Given the description of an element on the screen output the (x, y) to click on. 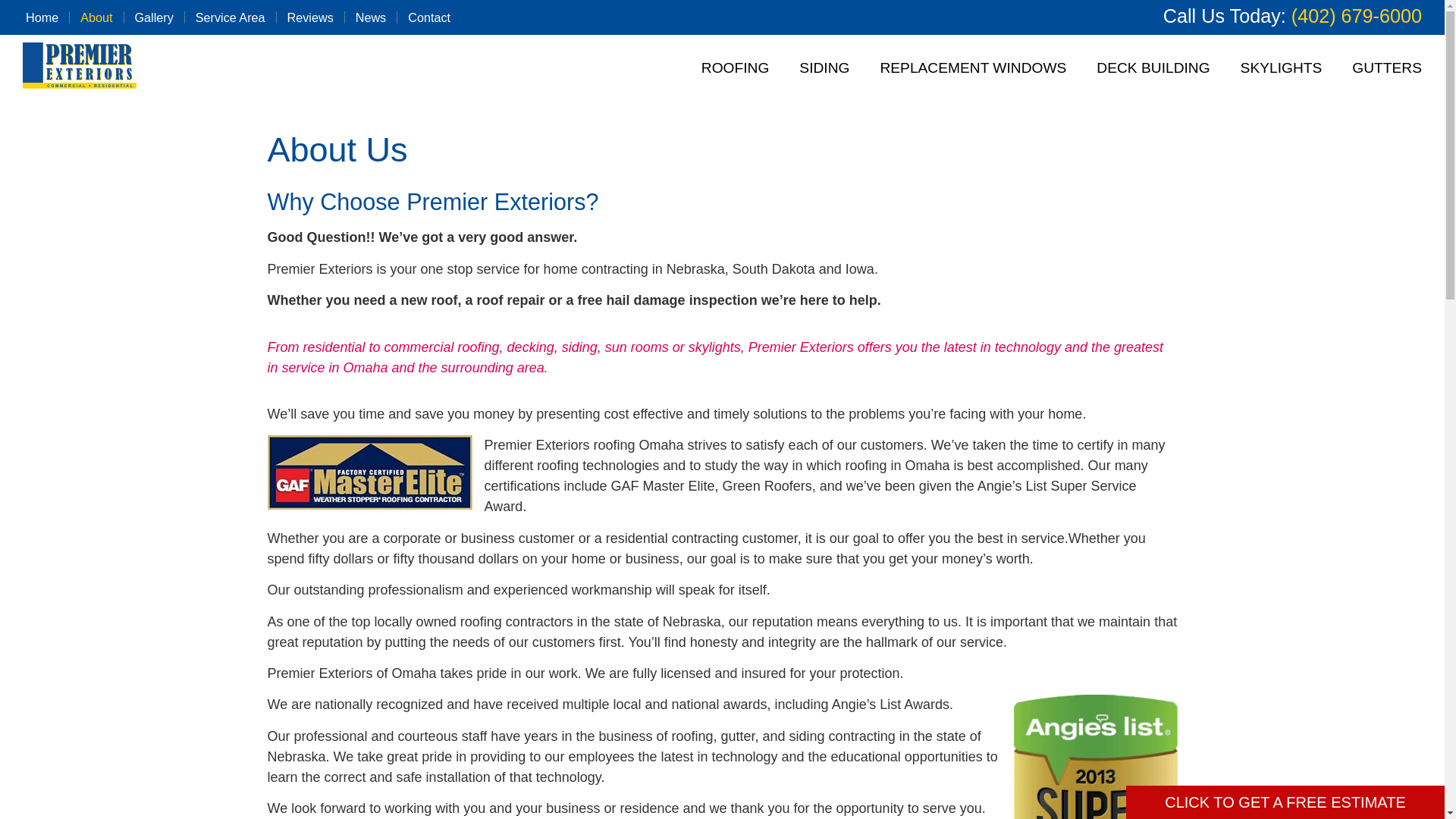
SIDING (824, 67)
About (95, 17)
Service Area (230, 17)
ROOFING (734, 67)
Contact (429, 17)
Home (41, 17)
Reviews (309, 17)
call us today (1356, 15)
News (370, 17)
Gallery (153, 17)
